Given the description of an element on the screen output the (x, y) to click on. 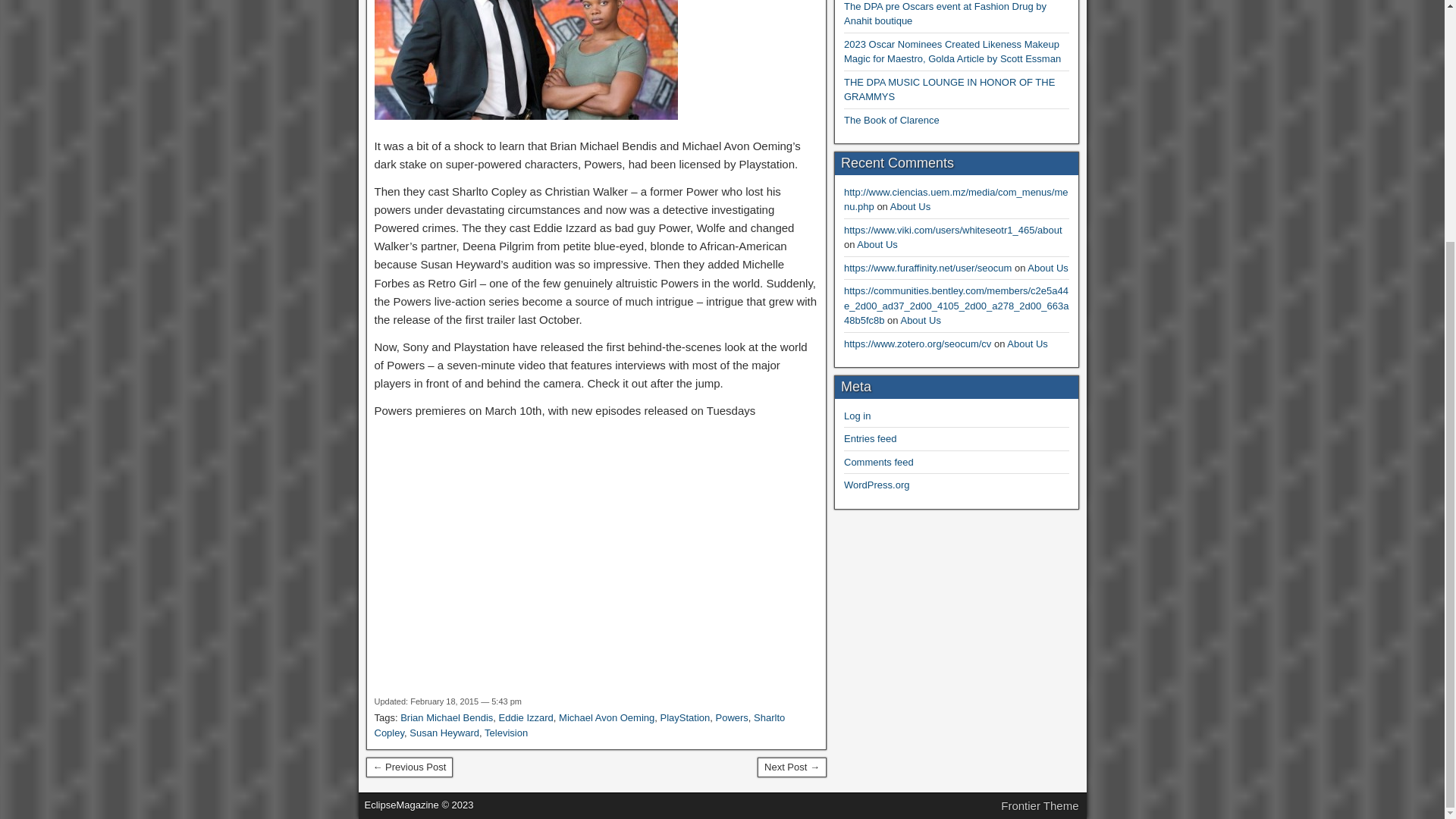
About Us (909, 206)
PlayStation (684, 717)
The Book of Clarence (891, 120)
All-New Ultraman Manga Coming To North America! (792, 767)
Brian Michael Bendis (446, 717)
The DPA pre Oscars event at Fashion Drug by Anahit boutique (945, 13)
Eddie Izzard (526, 717)
About Us (876, 244)
Blu-ray Review: 101 Dalmatians Gets A New Coat (408, 767)
